Given the description of an element on the screen output the (x, y) to click on. 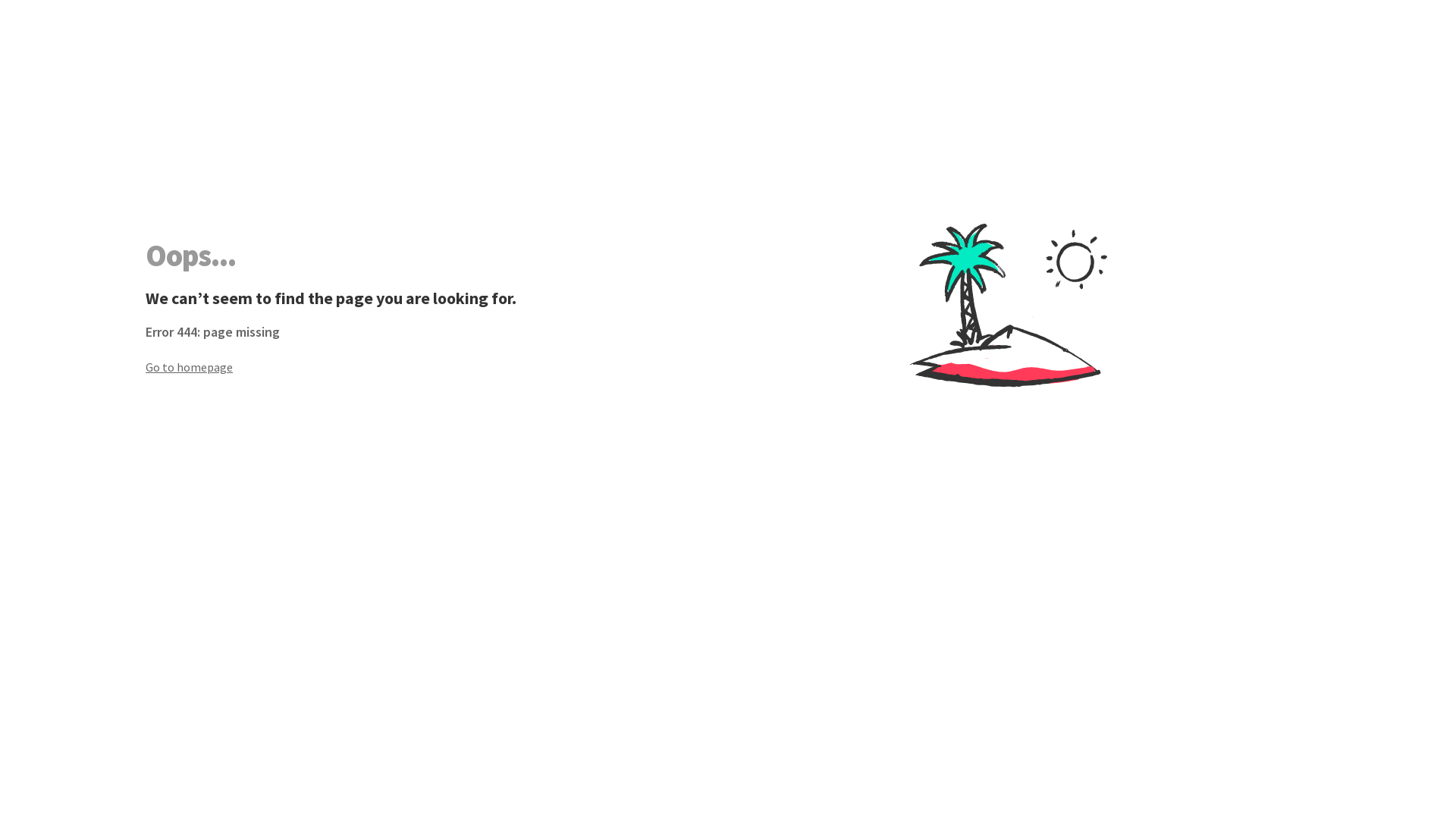
Go to homepage Element type: text (436, 366)
